Given the description of an element on the screen output the (x, y) to click on. 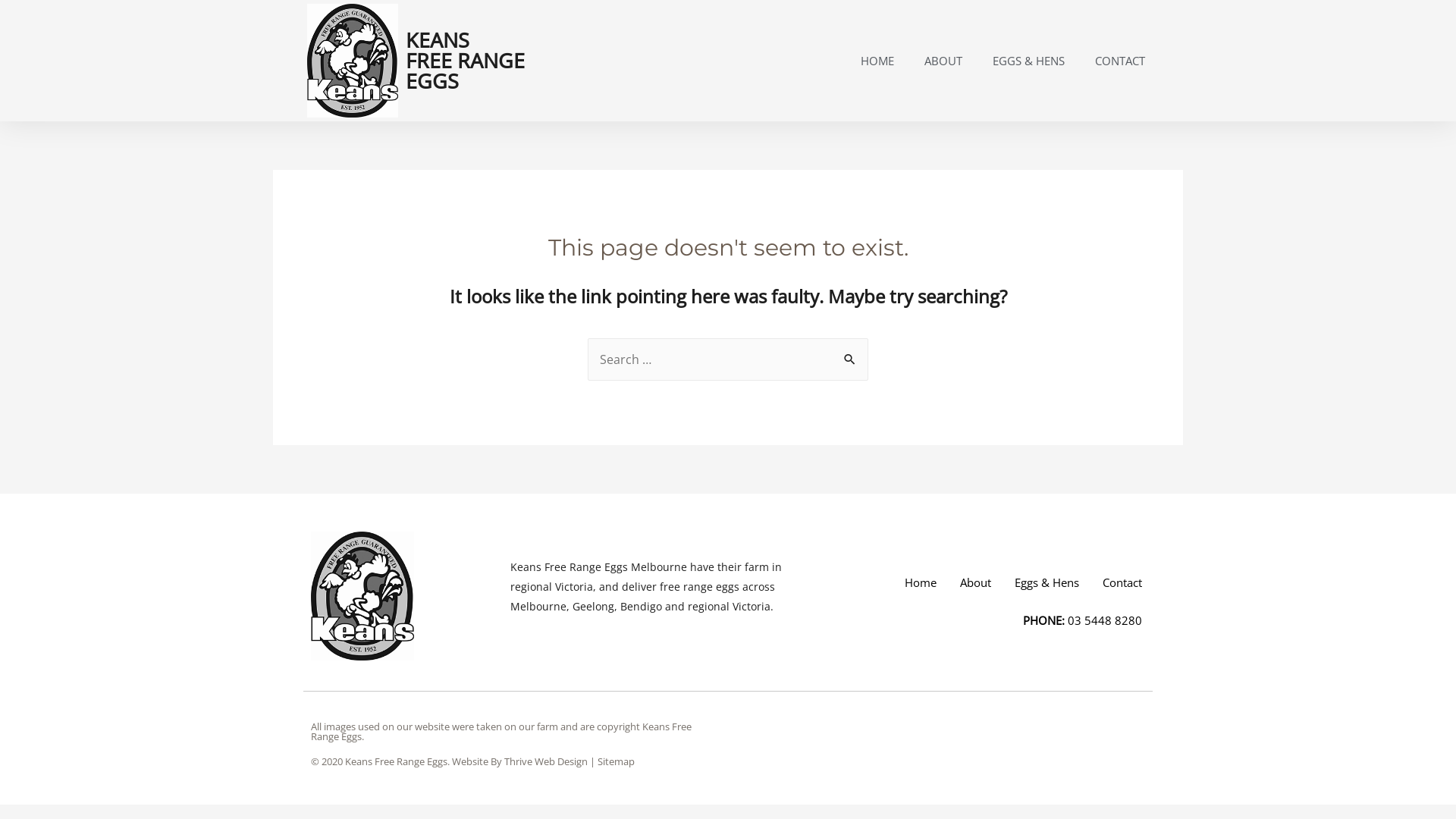
03 5448 8280 Element type: text (1104, 619)
Home Element type: text (920, 581)
Eggs & Hens Element type: text (1046, 581)
About Element type: text (975, 581)
EGGS & HENS Element type: text (1028, 60)
Contact Element type: text (1122, 581)
Sitemap Element type: text (615, 761)
KEANS
FREE RANGE
EGGS Element type: text (464, 59)
Search Element type: text (851, 354)
HOME Element type: text (877, 60)
CONTACT Element type: text (1119, 60)
ABOUT Element type: text (943, 60)
Website By Thrive Web Design Element type: text (519, 761)
